Given the description of an element on the screen output the (x, y) to click on. 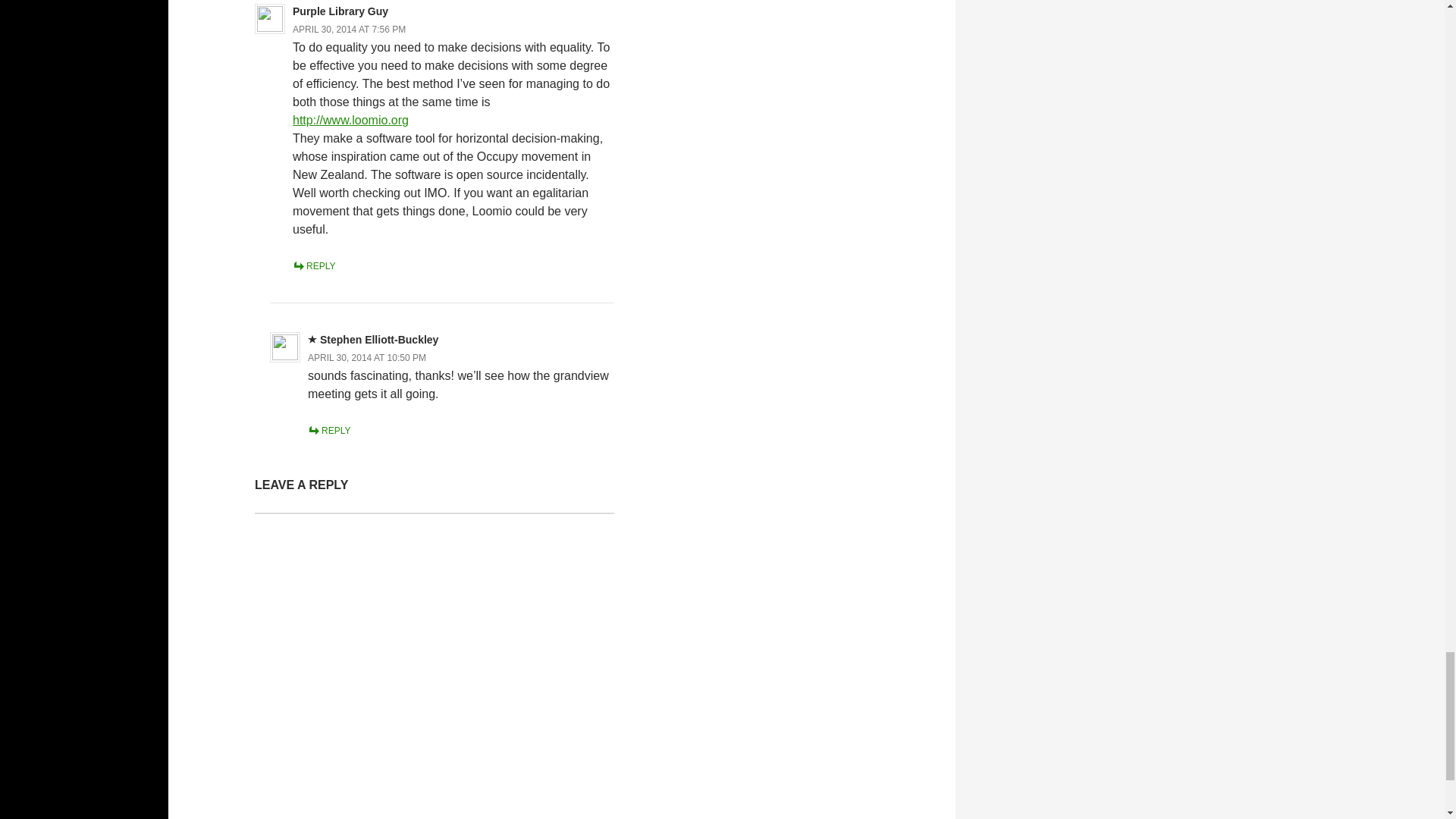
Comment Form (434, 665)
